Given the description of an element on the screen output the (x, y) to click on. 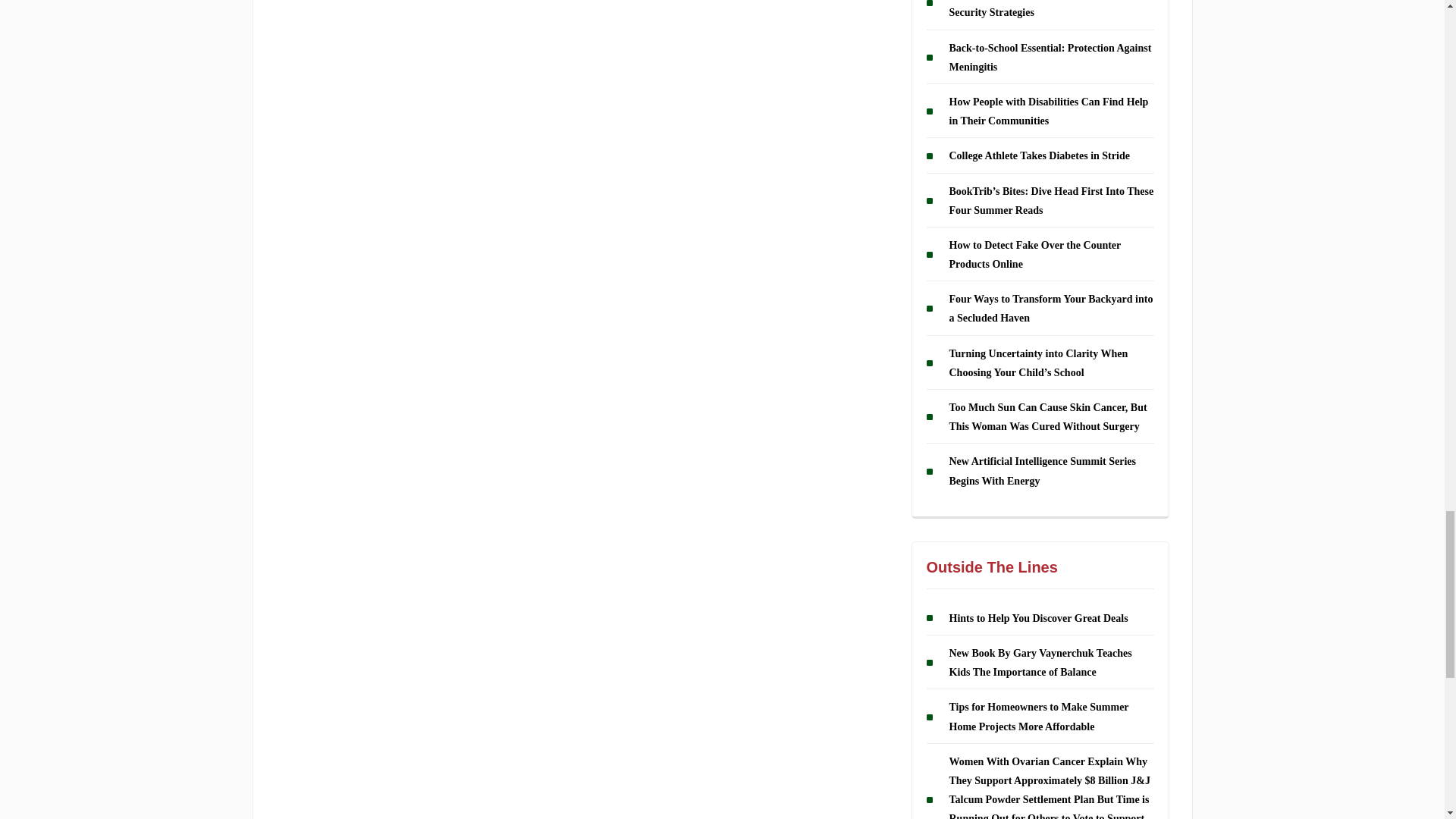
Back-to-School Essential: Protection Against Meningitis (1050, 57)
Four Ways to Transform Your Backyard into a Secluded Haven (1051, 308)
AI Disinformation Drives New National Security Strategies (1039, 9)
College Athlete Takes Diabetes in Stride (1039, 155)
How to Detect Fake Over the Counter Products Online (1035, 254)
